Given the description of an element on the screen output the (x, y) to click on. 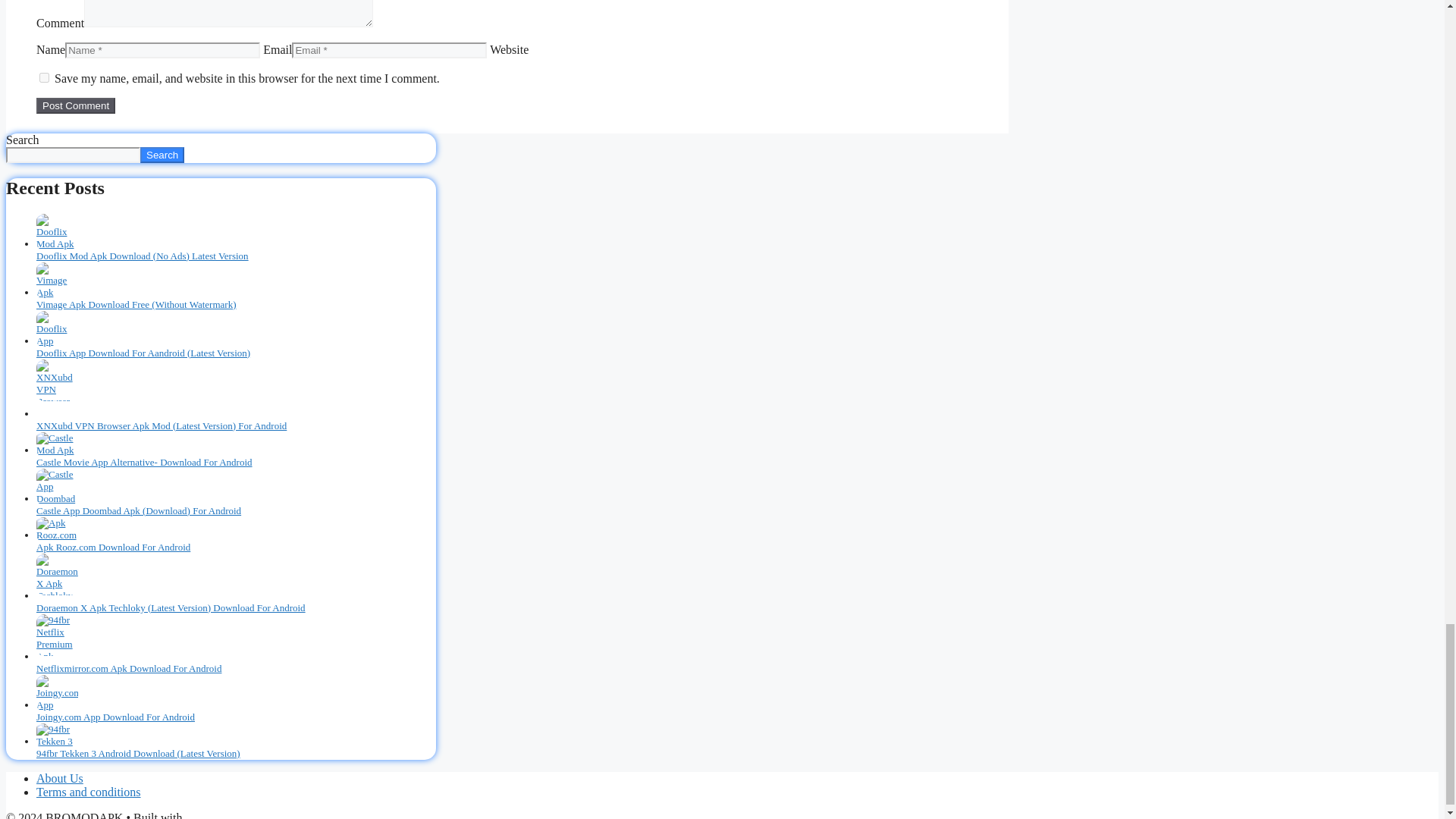
Apk Rooz.com Download For Android (113, 546)
Castle Movie App Alternative- Download For Android (143, 461)
Joingy.com App Download For Android (115, 716)
yes (44, 77)
Post Comment (75, 105)
Search (161, 154)
Terms and conditions (88, 791)
About Us (59, 778)
Netflixmirror.com Apk Download For Android (128, 668)
Post Comment (75, 105)
